Given the description of an element on the screen output the (x, y) to click on. 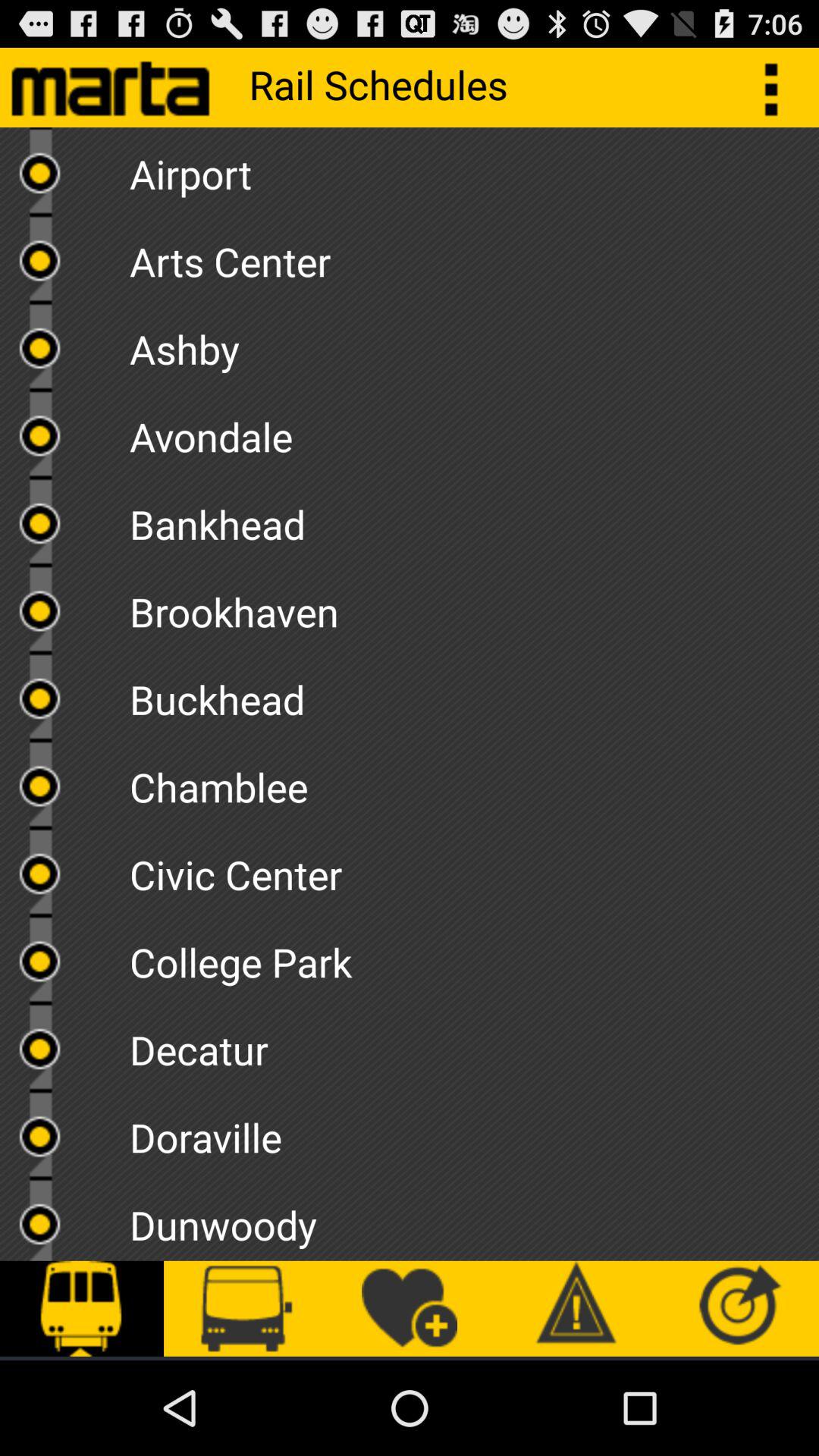
jump until the decatur item (474, 1044)
